Given the description of an element on the screen output the (x, y) to click on. 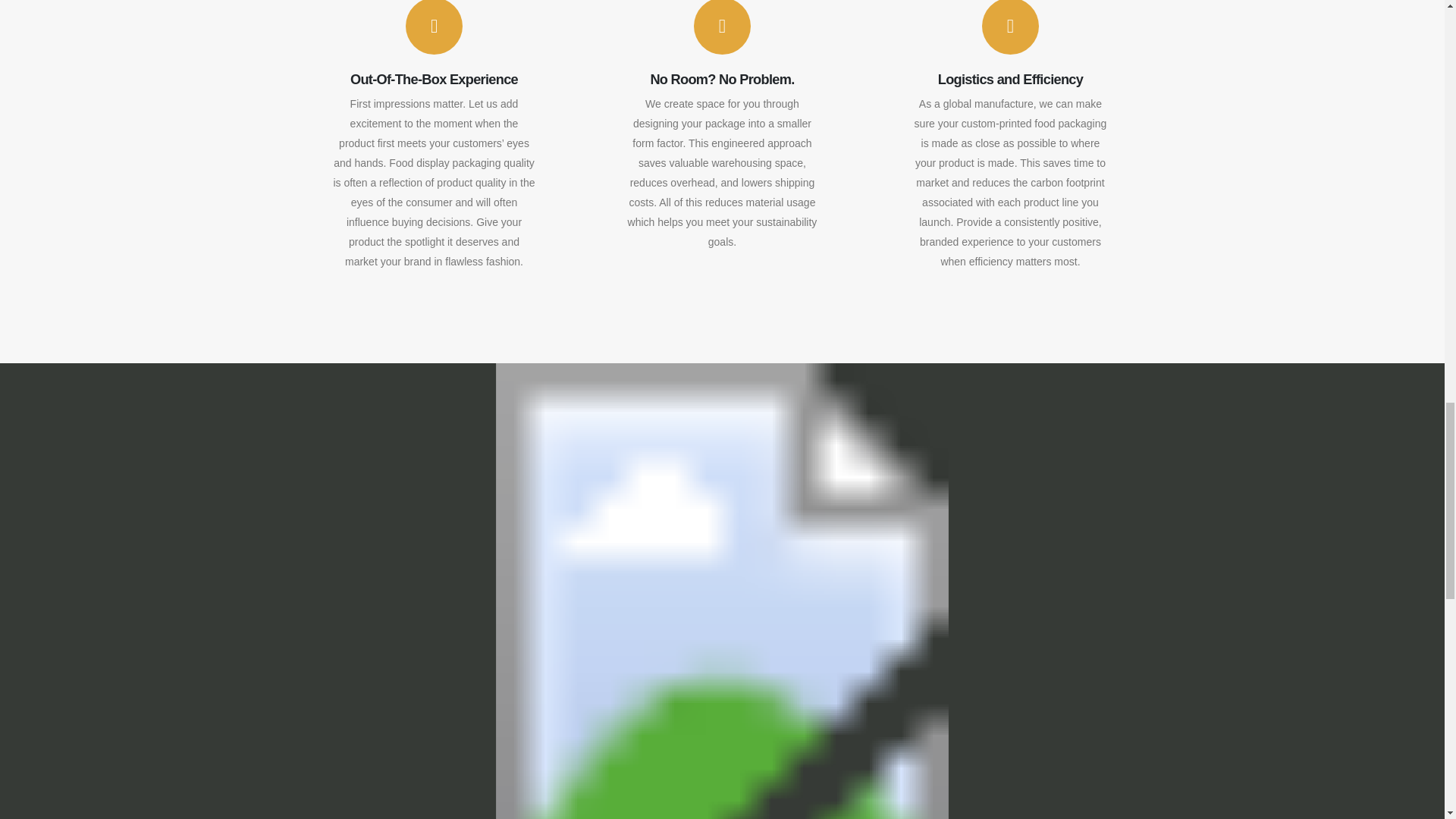
Asia Pacific Pin (178, 596)
Northeast Midwest (560, 783)
Canada Pin (1324, 606)
Northern Region Pin (855, 552)
Contact Us (435, 579)
Southern Region Pin (873, 735)
Central South East Pin (1233, 764)
Central Region Pin (821, 677)
Central Southeast (550, 803)
